Given the description of an element on the screen output the (x, y) to click on. 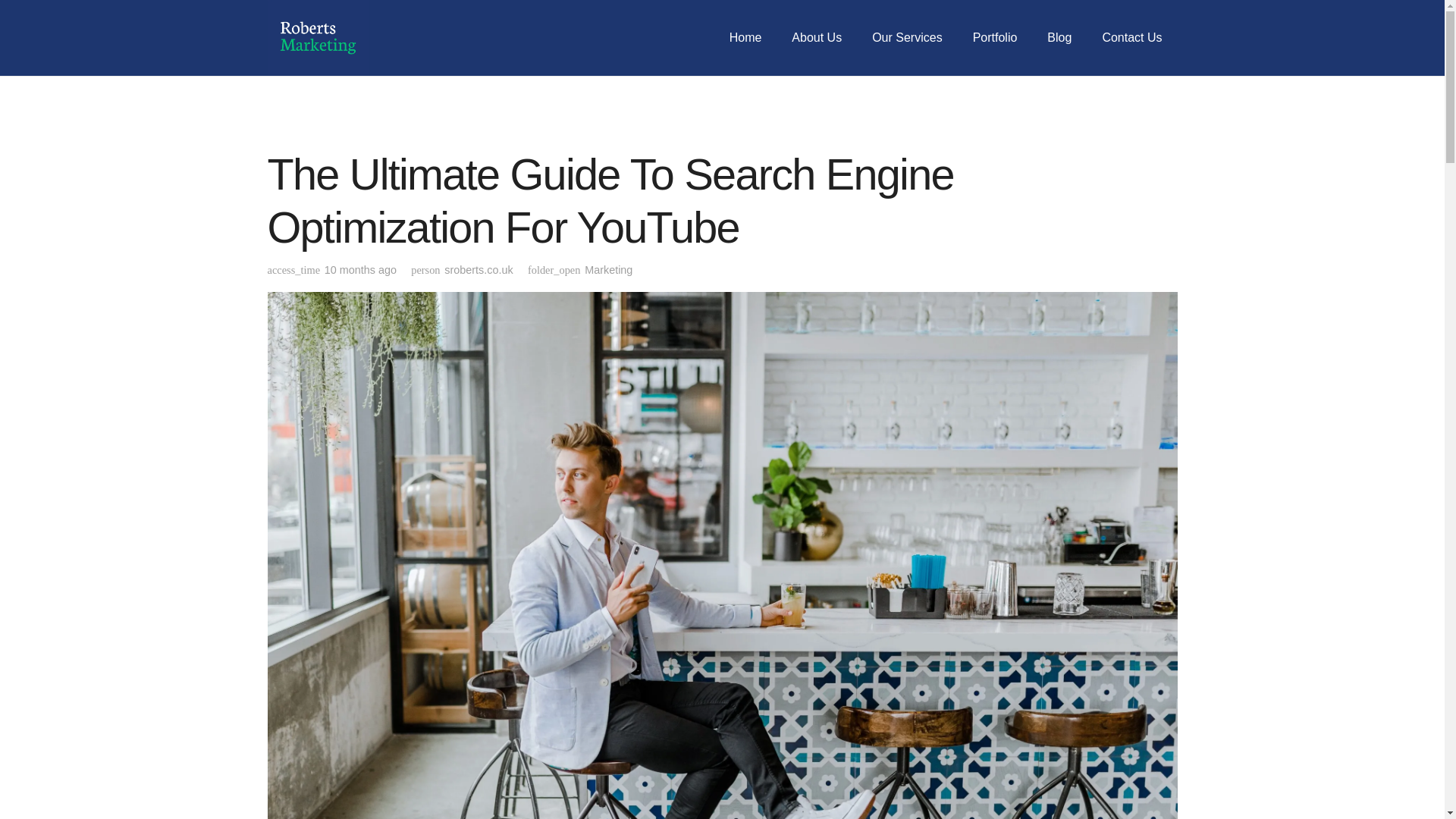
Contact Us (1131, 38)
Marketing (608, 269)
Portfolio (995, 38)
sroberts.co.uk (478, 270)
Our Services (906, 38)
About Us (816, 38)
